Given the description of an element on the screen output the (x, y) to click on. 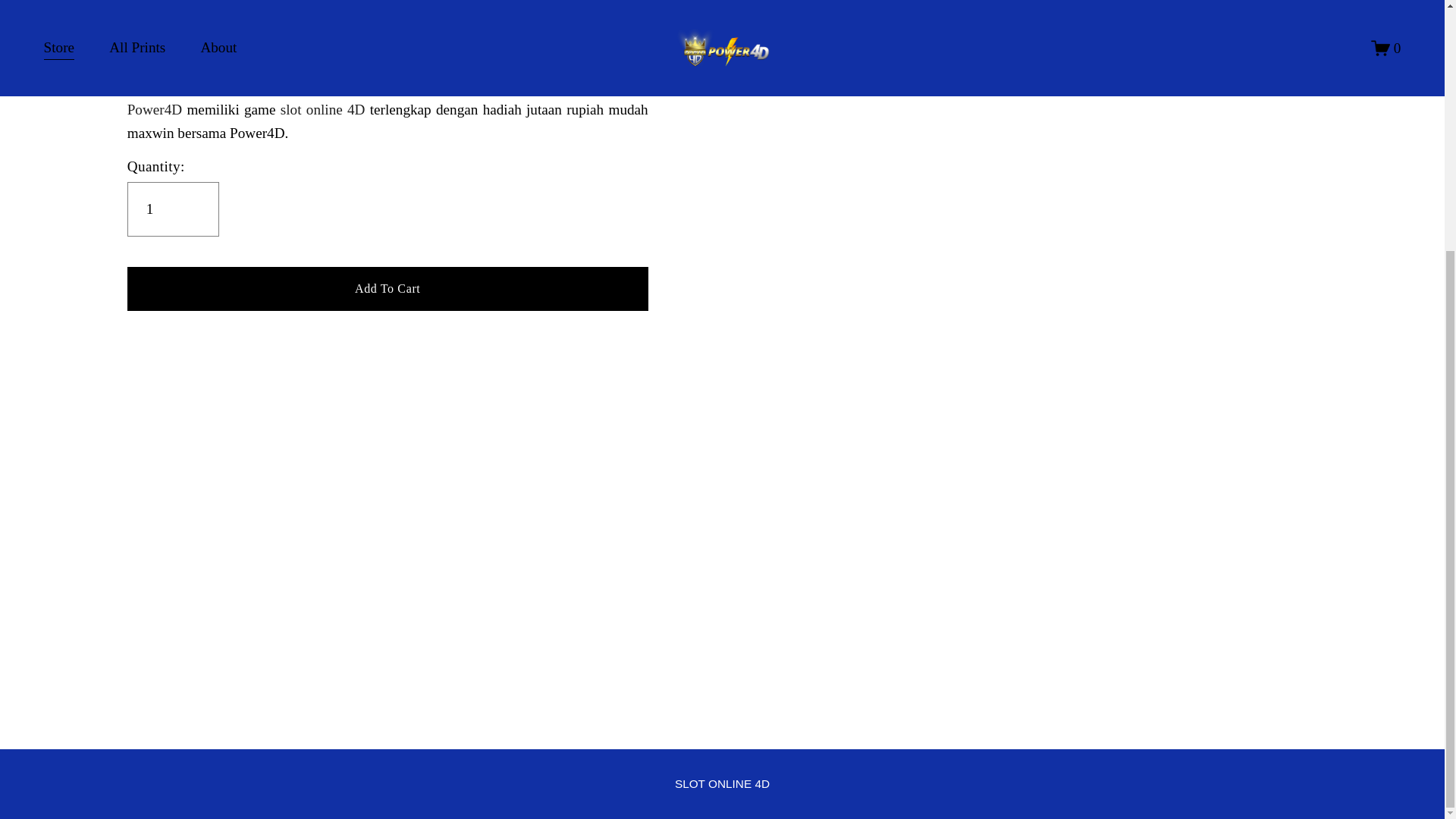
Add To Cart (387, 287)
Power4D (155, 109)
slot online 4D (323, 109)
1 (173, 208)
slot online 4D (722, 783)
SLOT ONLINE 4D (722, 783)
